Given the description of an element on the screen output the (x, y) to click on. 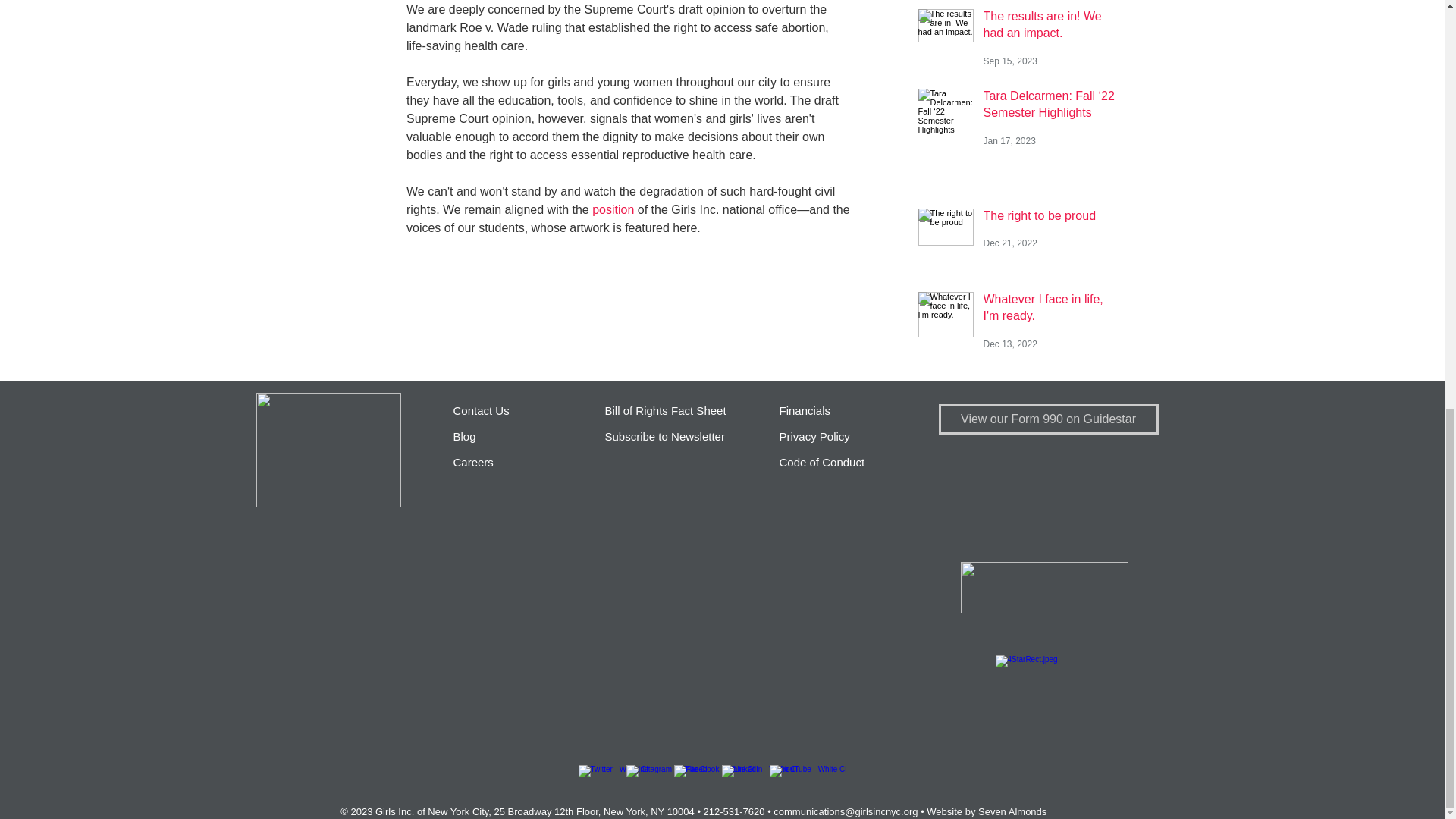
position (612, 209)
Dec 13, 2022 (1009, 344)
Dec 21, 2022 (1009, 243)
Sep 15, 2023 (1009, 61)
Oct 11, 2023 (1008, 1)
Jan 17, 2023 (1008, 140)
